Given the description of an element on the screen output the (x, y) to click on. 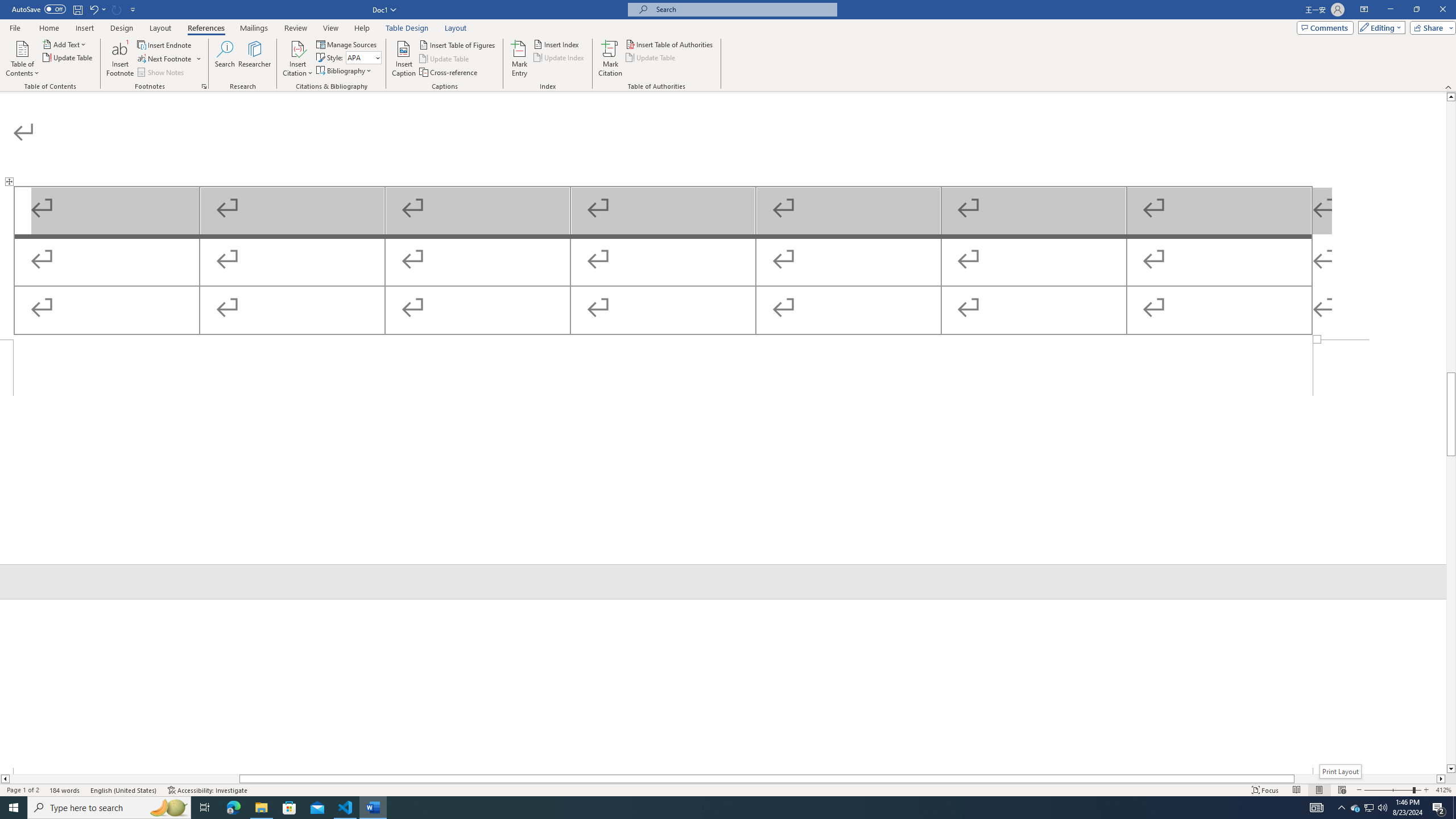
Table of Contents (22, 58)
Update Index (559, 56)
Page 1 content (722, 215)
Update Table (651, 56)
Style (363, 56)
Insert Footnote (119, 58)
Cross-reference... (448, 72)
